Given the description of an element on the screen output the (x, y) to click on. 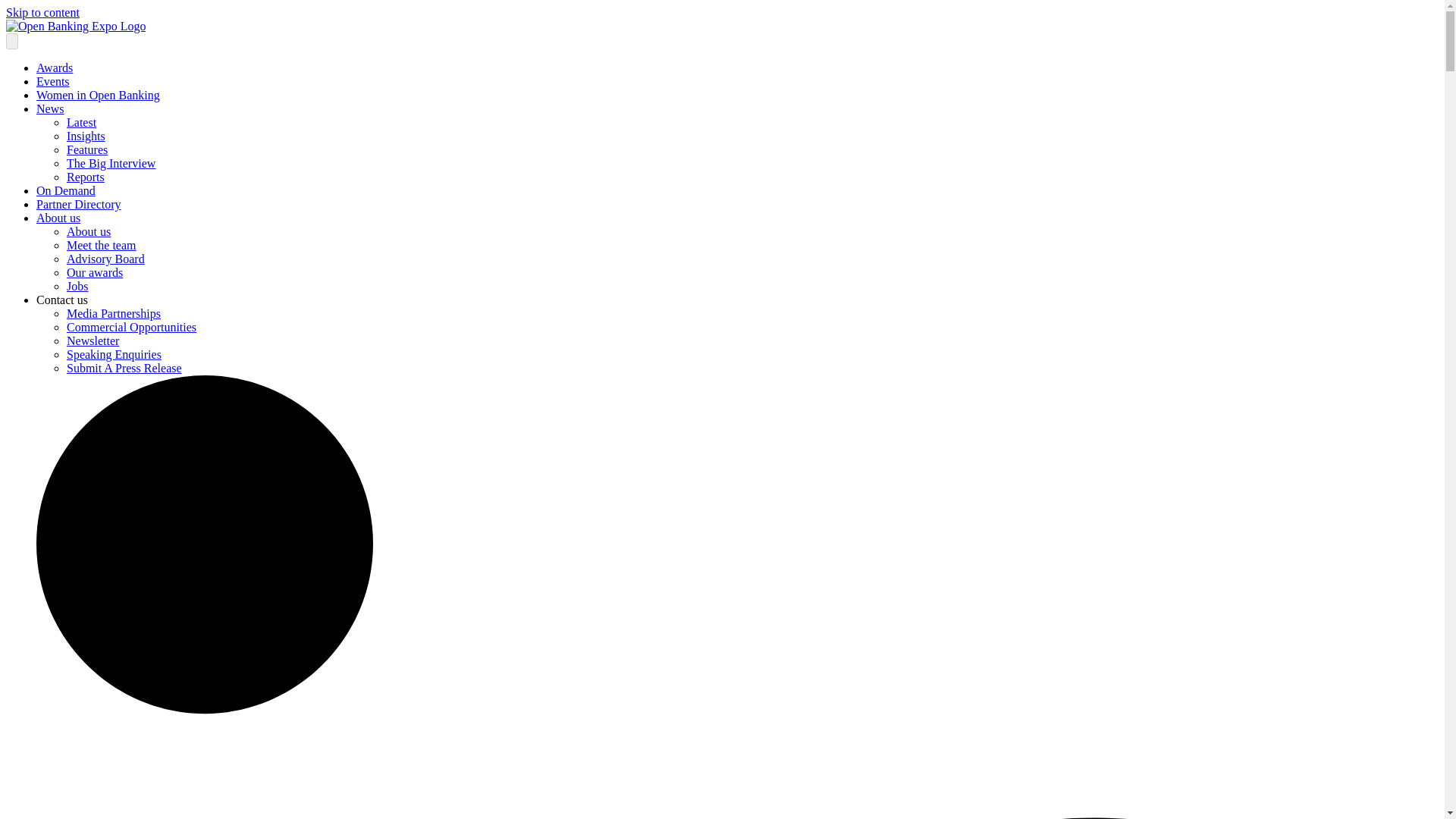
On Demand (66, 190)
Awards (54, 67)
Submit A Press Release (124, 367)
Newsletter (92, 340)
Commercial Opportunities (131, 327)
Women in Open Banking (98, 94)
Contact us (61, 299)
Insights (85, 135)
About us (58, 217)
Advisory Board (105, 258)
Events (52, 81)
Features (86, 149)
Speaking Enquiries (113, 354)
Jobs (76, 286)
The Big Interview (110, 163)
